Given the description of an element on the screen output the (x, y) to click on. 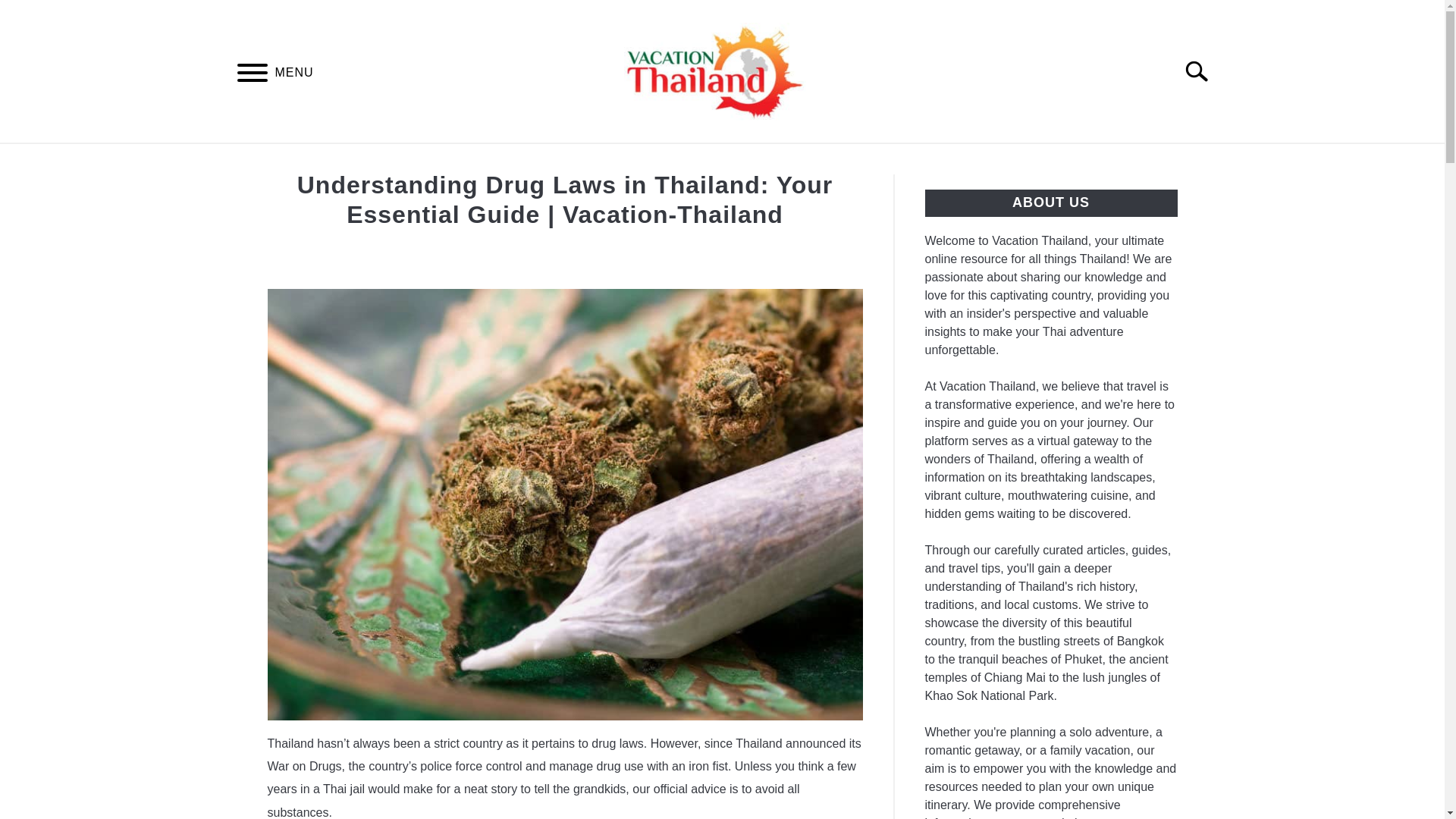
Search (1203, 71)
MENU (251, 75)
